Given the description of an element on the screen output the (x, y) to click on. 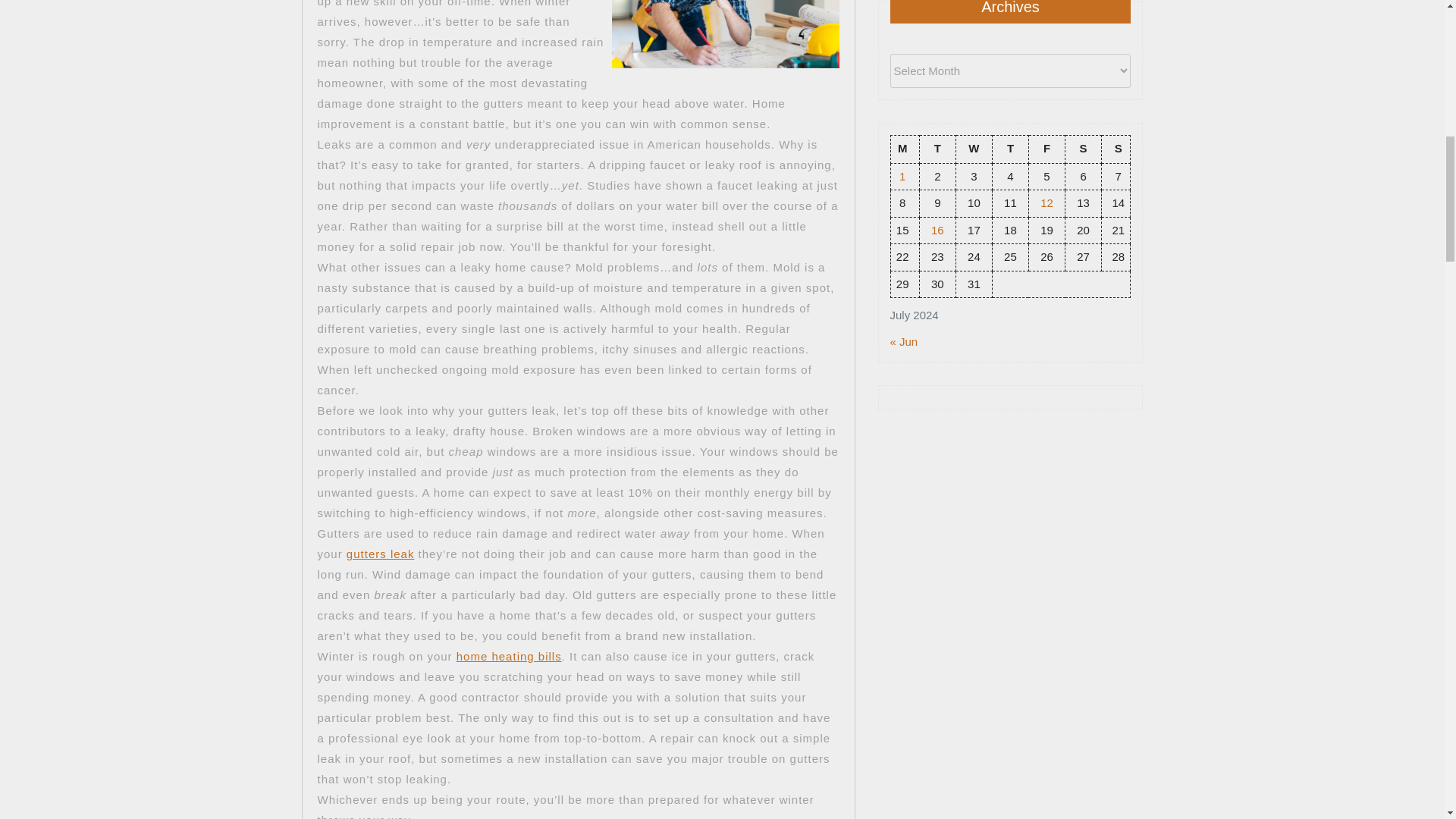
Thursday (1009, 148)
More related to Replace windows (509, 656)
16 (937, 228)
Monday (903, 148)
gutters leak (380, 553)
Tuesday (936, 148)
home heating bills (509, 656)
Saturday (1083, 148)
12 (1046, 202)
Sunday (1116, 148)
Wednesday (973, 148)
See more on the topic of Deck party (380, 553)
Friday (1045, 148)
